Given the description of an element on the screen output the (x, y) to click on. 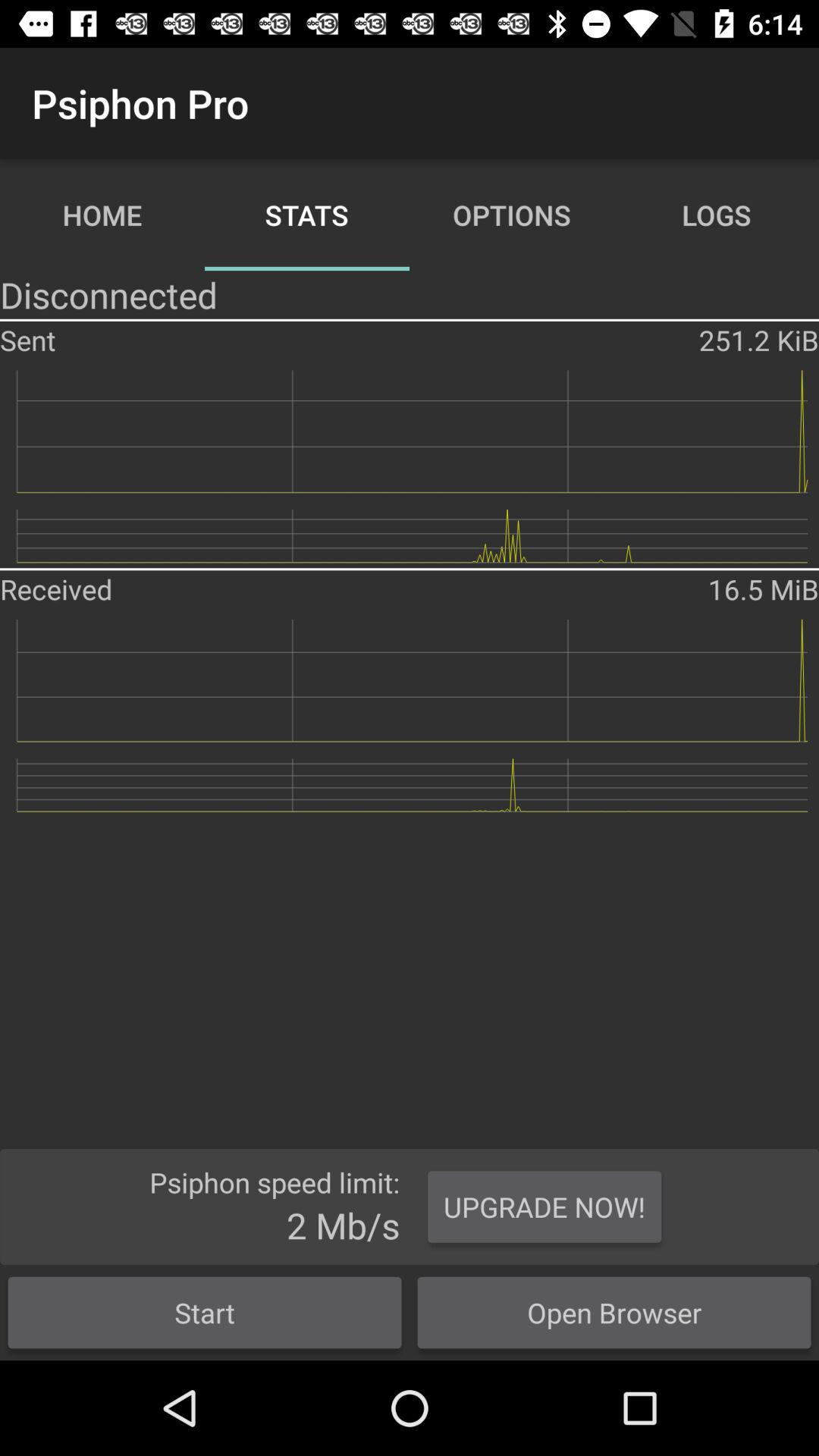
jump until start (204, 1312)
